Given the description of an element on the screen output the (x, y) to click on. 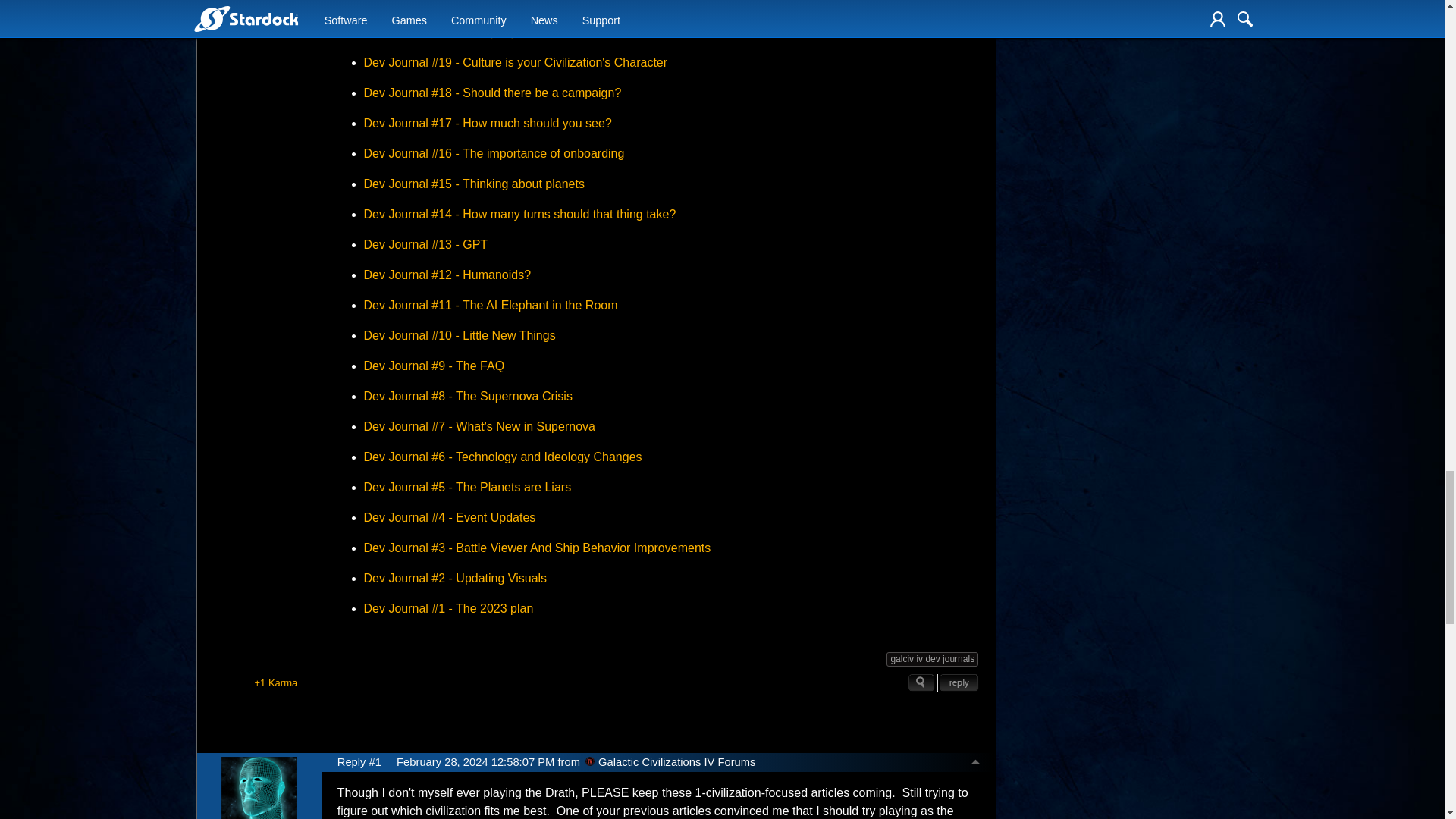
Reply to this post (958, 682)
Search this post (921, 682)
